Given the description of an element on the screen output the (x, y) to click on. 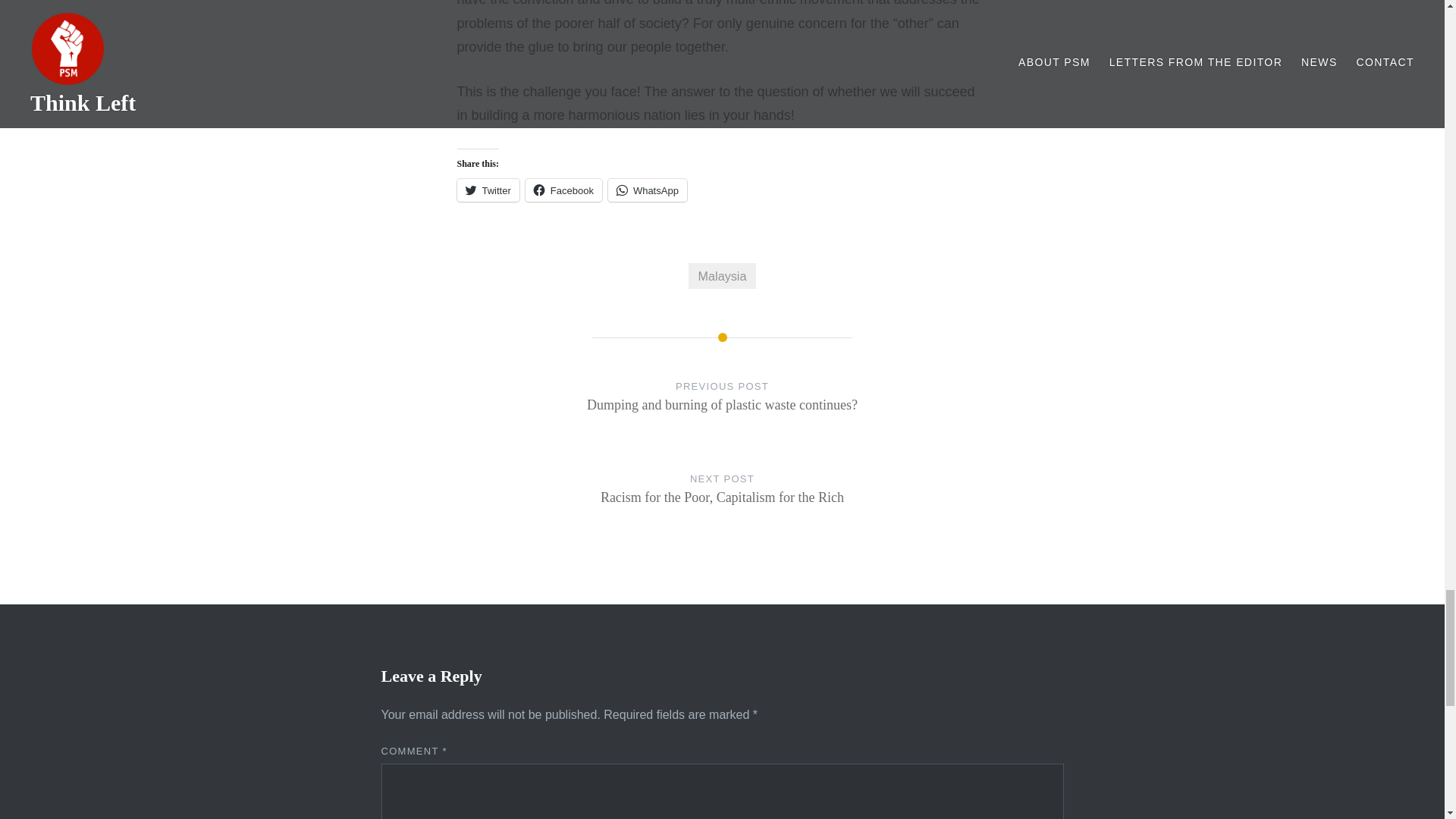
Twitter (487, 190)
Click to share on Facebook (563, 190)
WhatsApp (647, 190)
Click to share on Twitter (487, 190)
Facebook (722, 503)
Click to share on WhatsApp (563, 190)
Malaysia (647, 190)
